Given the description of an element on the screen output the (x, y) to click on. 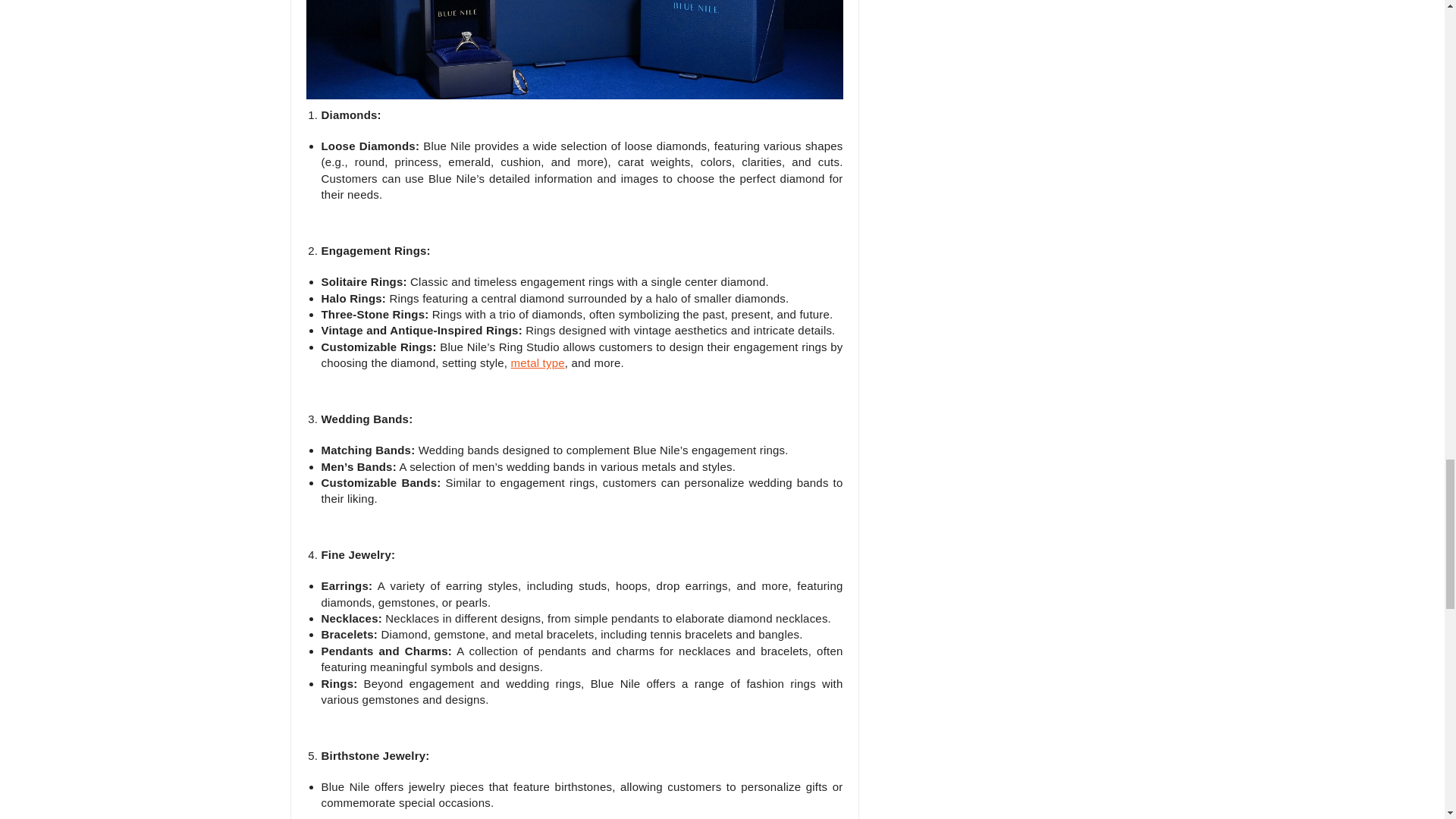
Blue Nile Jewelry (574, 49)
